Given the description of an element on the screen output the (x, y) to click on. 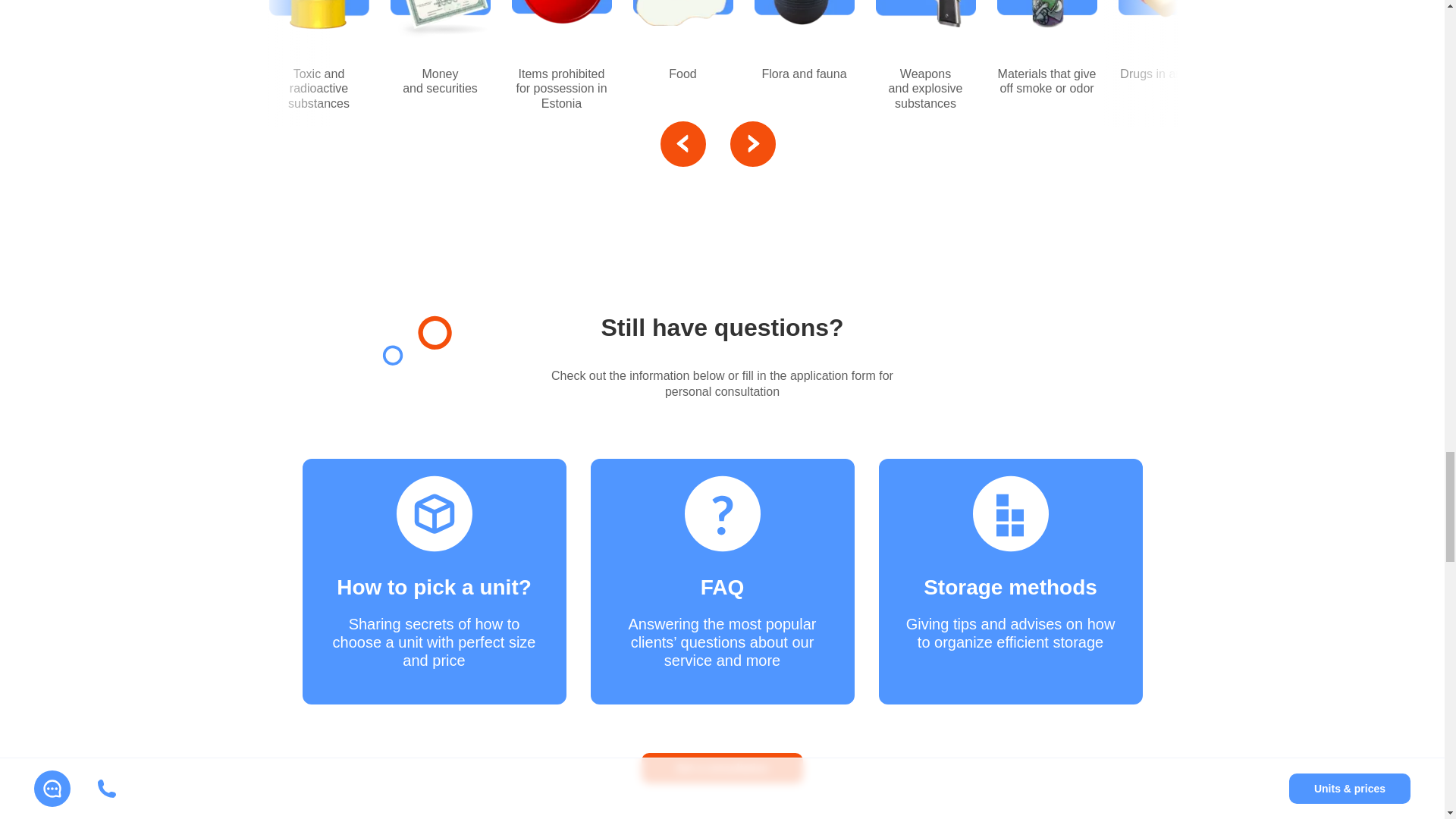
Get a consultation (722, 767)
